Given the description of an element on the screen output the (x, y) to click on. 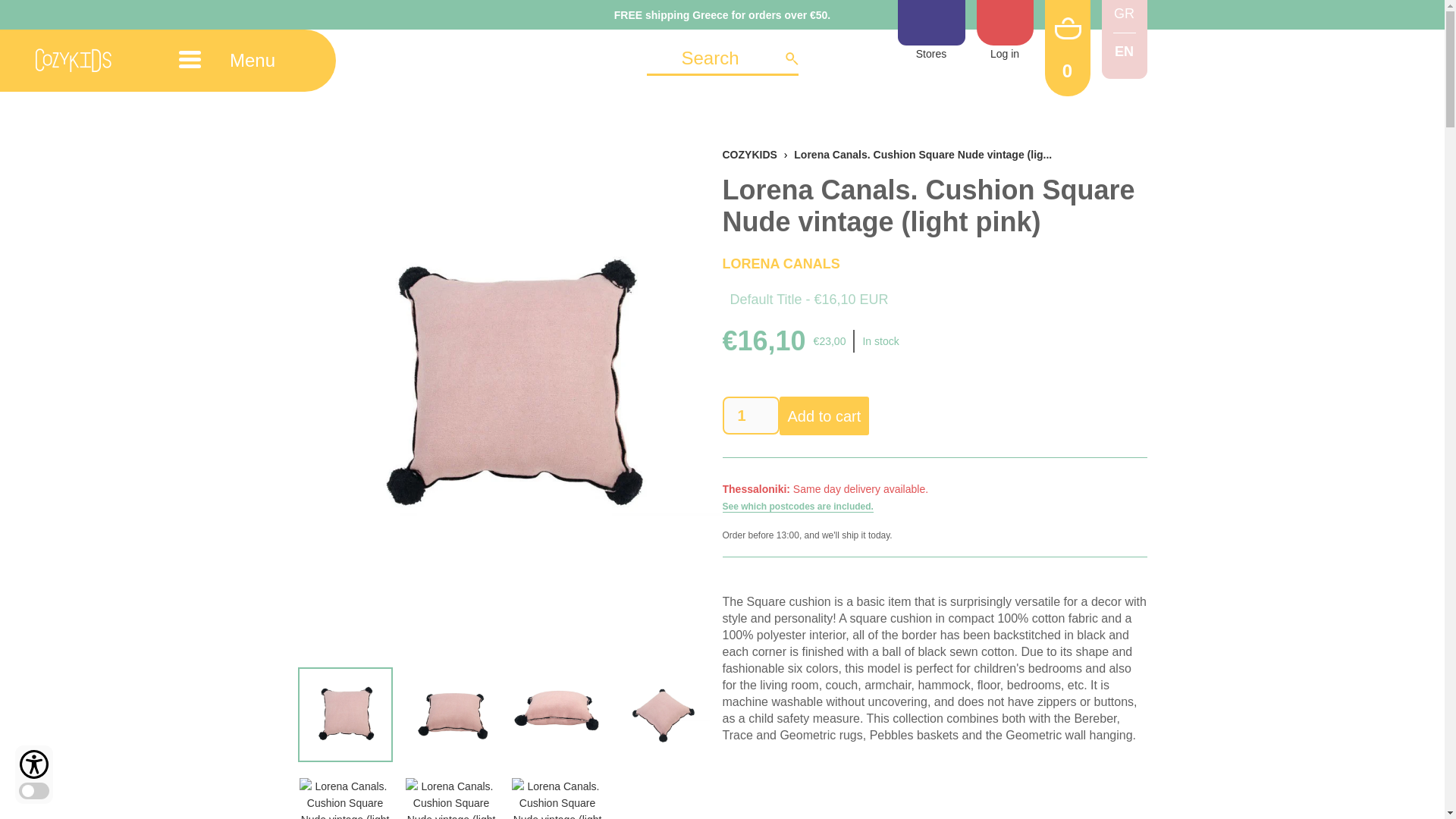
GR (1123, 14)
Stores (931, 31)
Menu (238, 46)
1 (750, 415)
Log in (1004, 31)
